Given the description of an element on the screen output the (x, y) to click on. 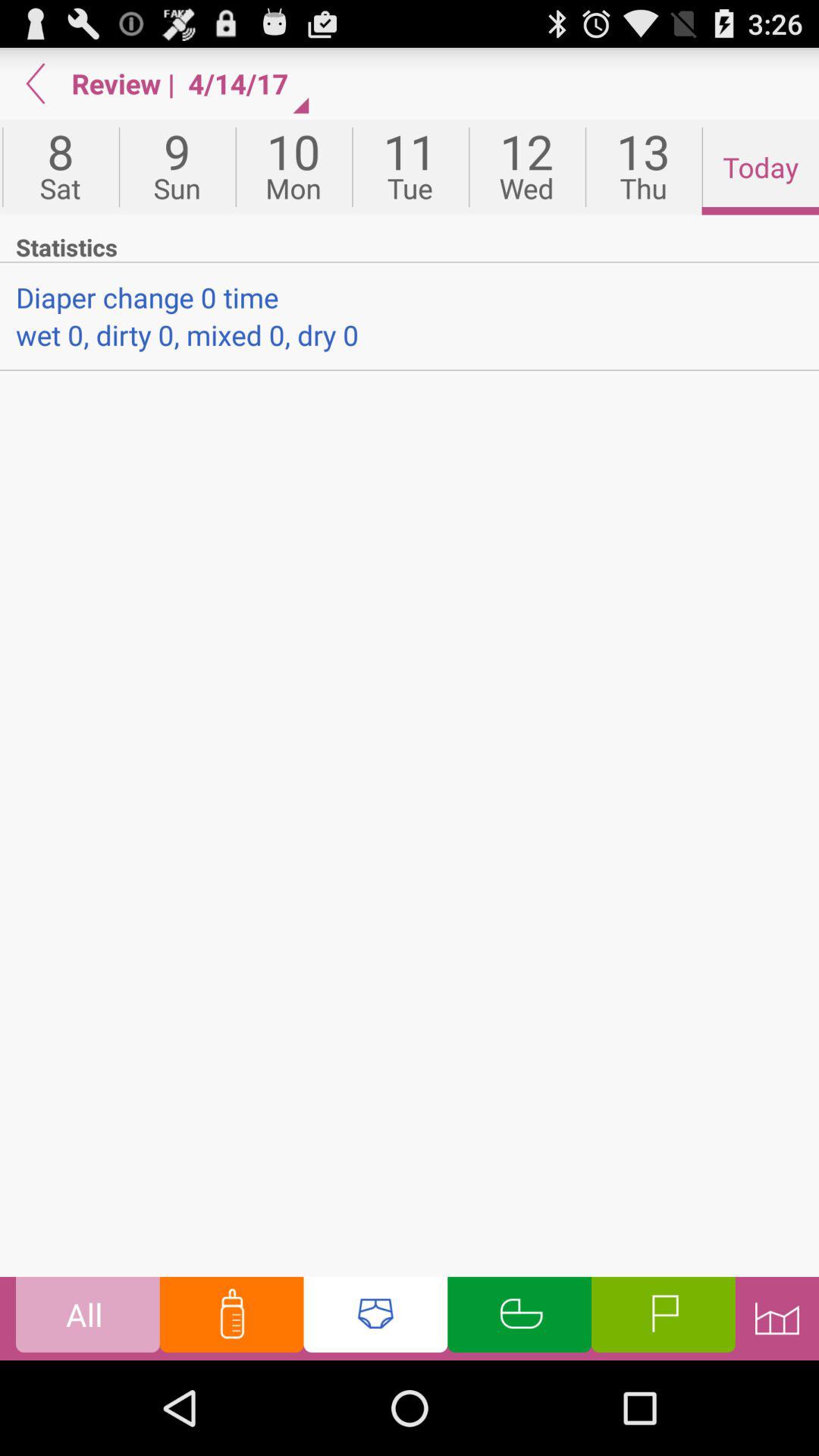
bottle feeding tab (231, 1318)
